Given the description of an element on the screen output the (x, y) to click on. 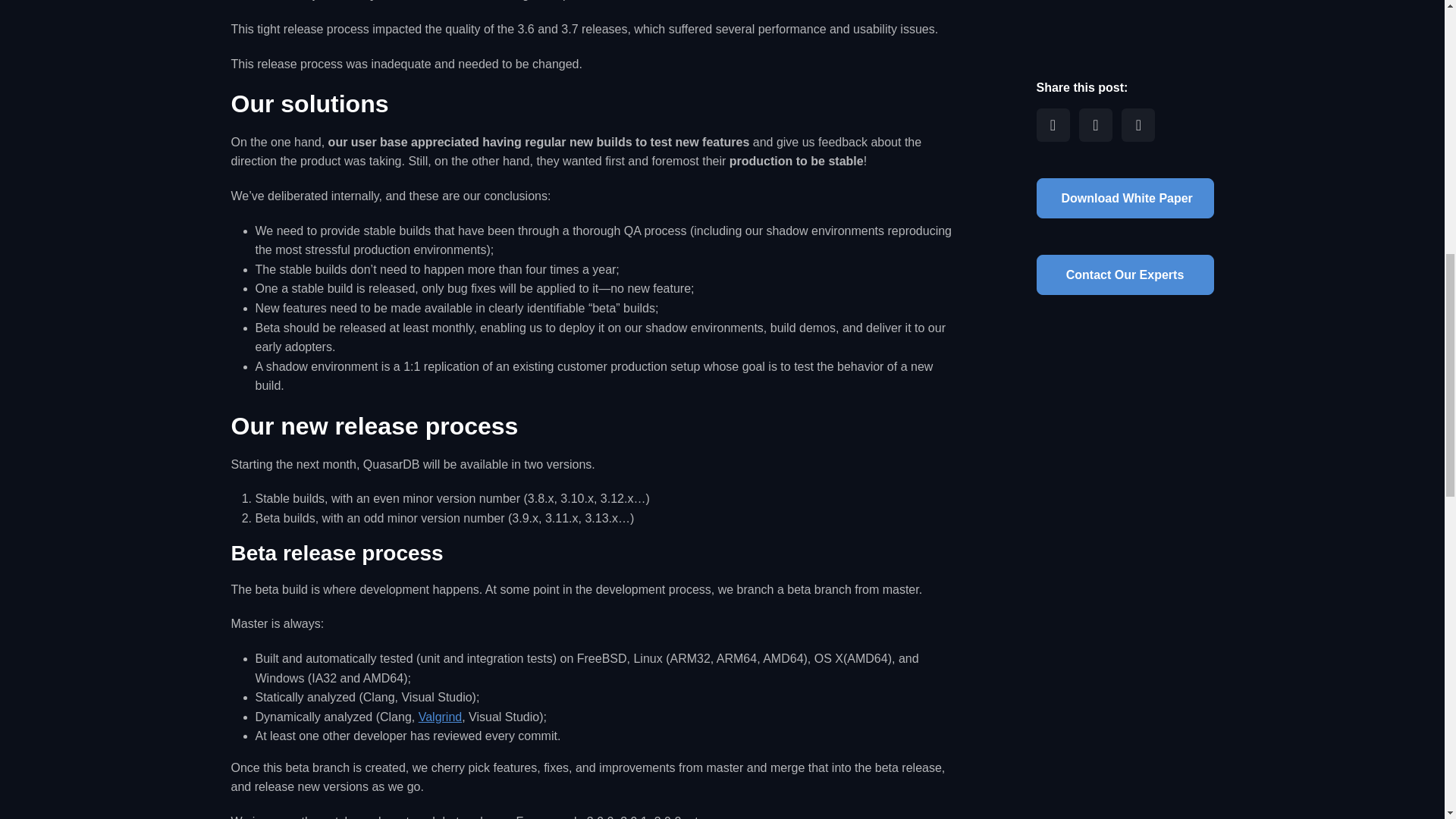
Valgrind (441, 716)
